Given the description of an element on the screen output the (x, y) to click on. 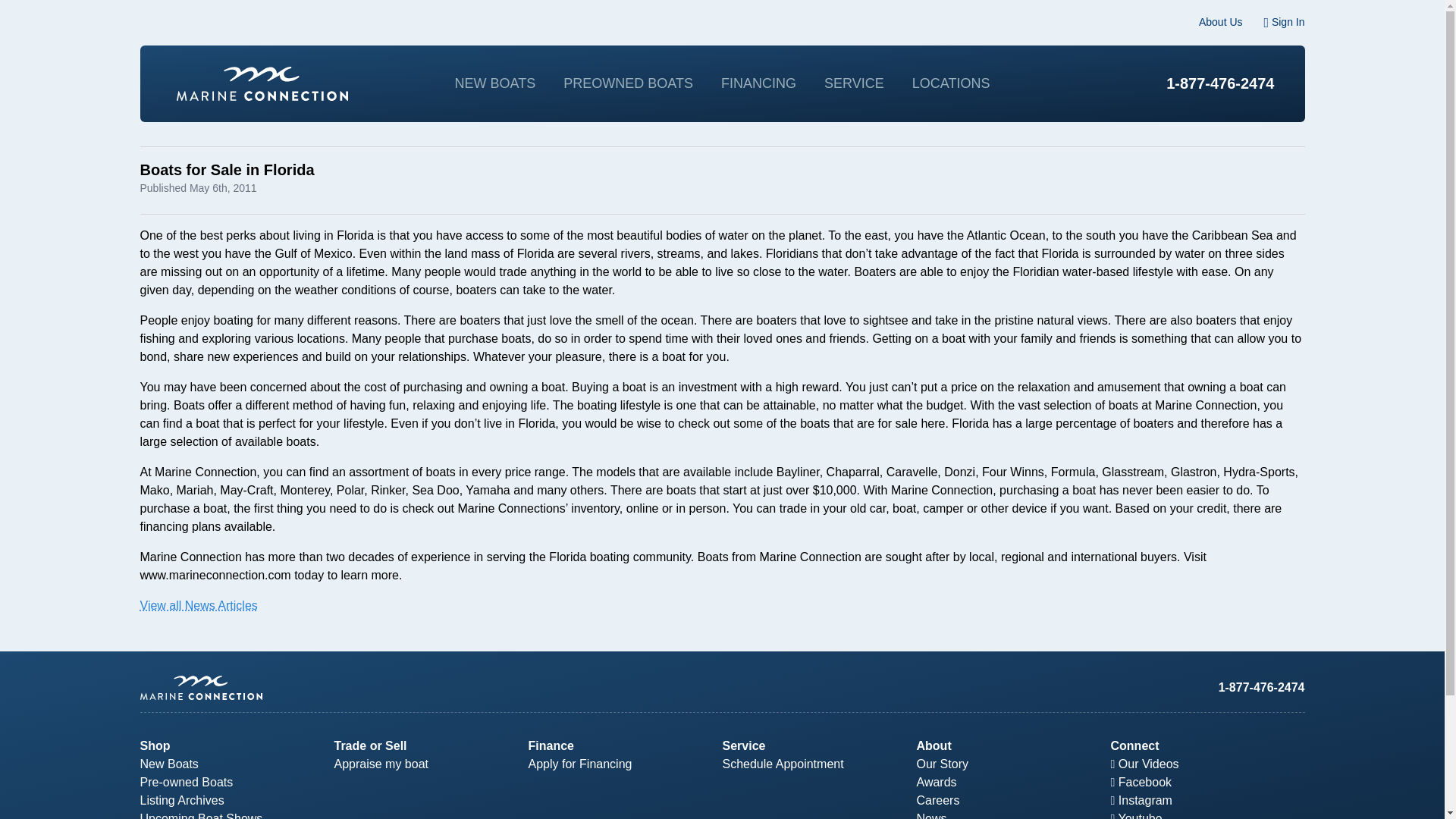
Upcoming Boat Shows (200, 815)
NEW BOATS (494, 83)
Finance (550, 745)
Sign In (1283, 21)
View all News Articles (198, 604)
Appraise my boat (380, 763)
Listing Archives (181, 799)
Service (743, 745)
Shop (154, 745)
Trade or Sell (369, 745)
Home (430, 687)
PREOWNED BOATS (628, 83)
Apply for Financing (579, 763)
FINANCING (758, 83)
Home (261, 83)
